Given the description of an element on the screen output the (x, y) to click on. 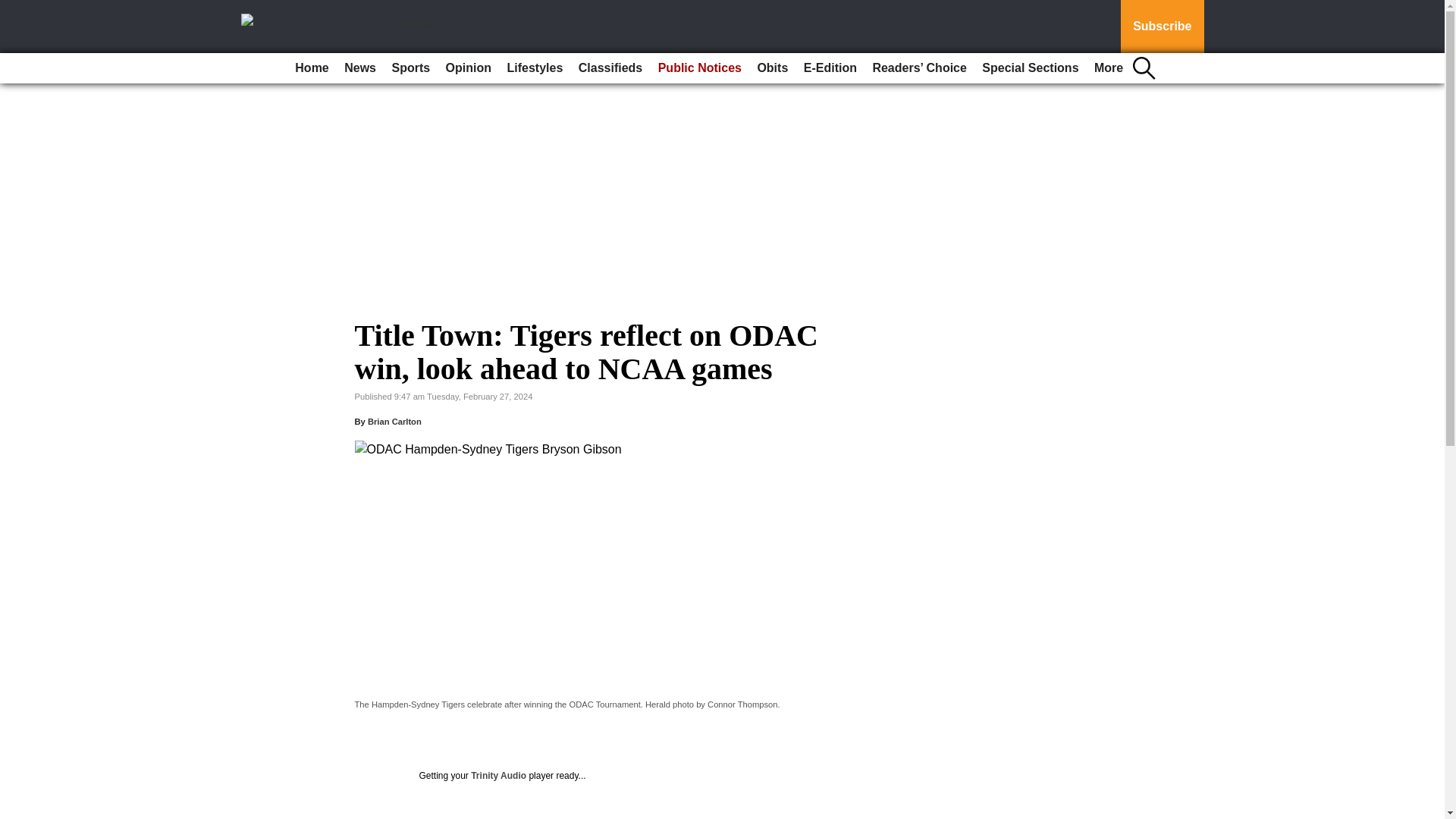
Classifieds (609, 68)
Public Notices (700, 68)
E-Edition (830, 68)
Special Sections (1029, 68)
Trinity Audio (497, 775)
Brian Carlton (395, 420)
Obits (772, 68)
More (1108, 68)
Home (311, 68)
Subscribe (1162, 26)
Lifestyles (534, 68)
Sports (410, 68)
Go (13, 9)
News (359, 68)
Opinion (468, 68)
